Given the description of an element on the screen output the (x, y) to click on. 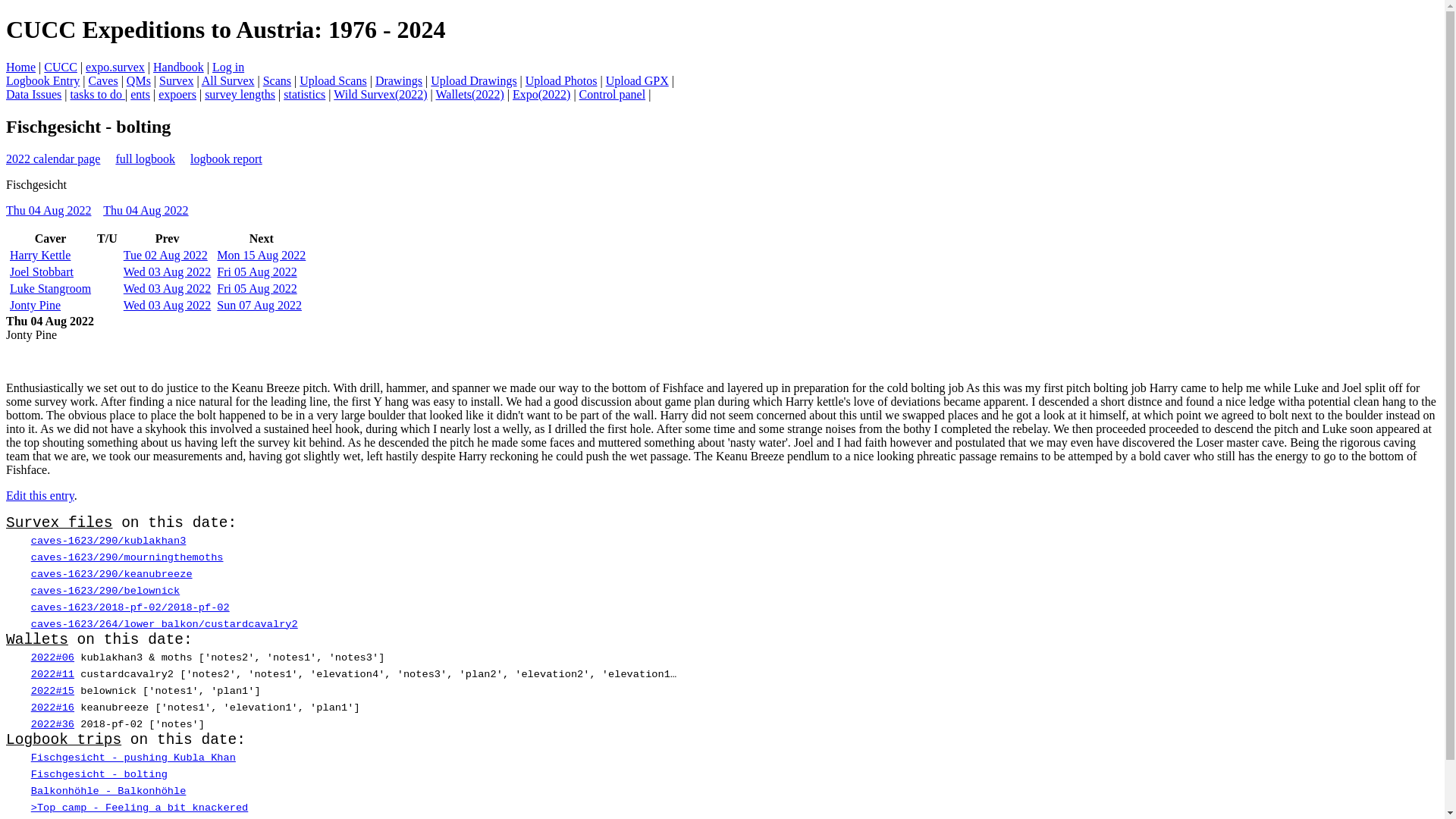
expo.survex (114, 66)
Wed 03 Aug 2022 (167, 271)
Luke Stangroom (50, 287)
jonty-pine (35, 305)
joel-stobbart (42, 271)
Upload Drawings (473, 80)
2022 calendar page (52, 158)
Harry Kettle (39, 254)
Caves (102, 80)
tasks to do (97, 93)
